Given the description of an element on the screen output the (x, y) to click on. 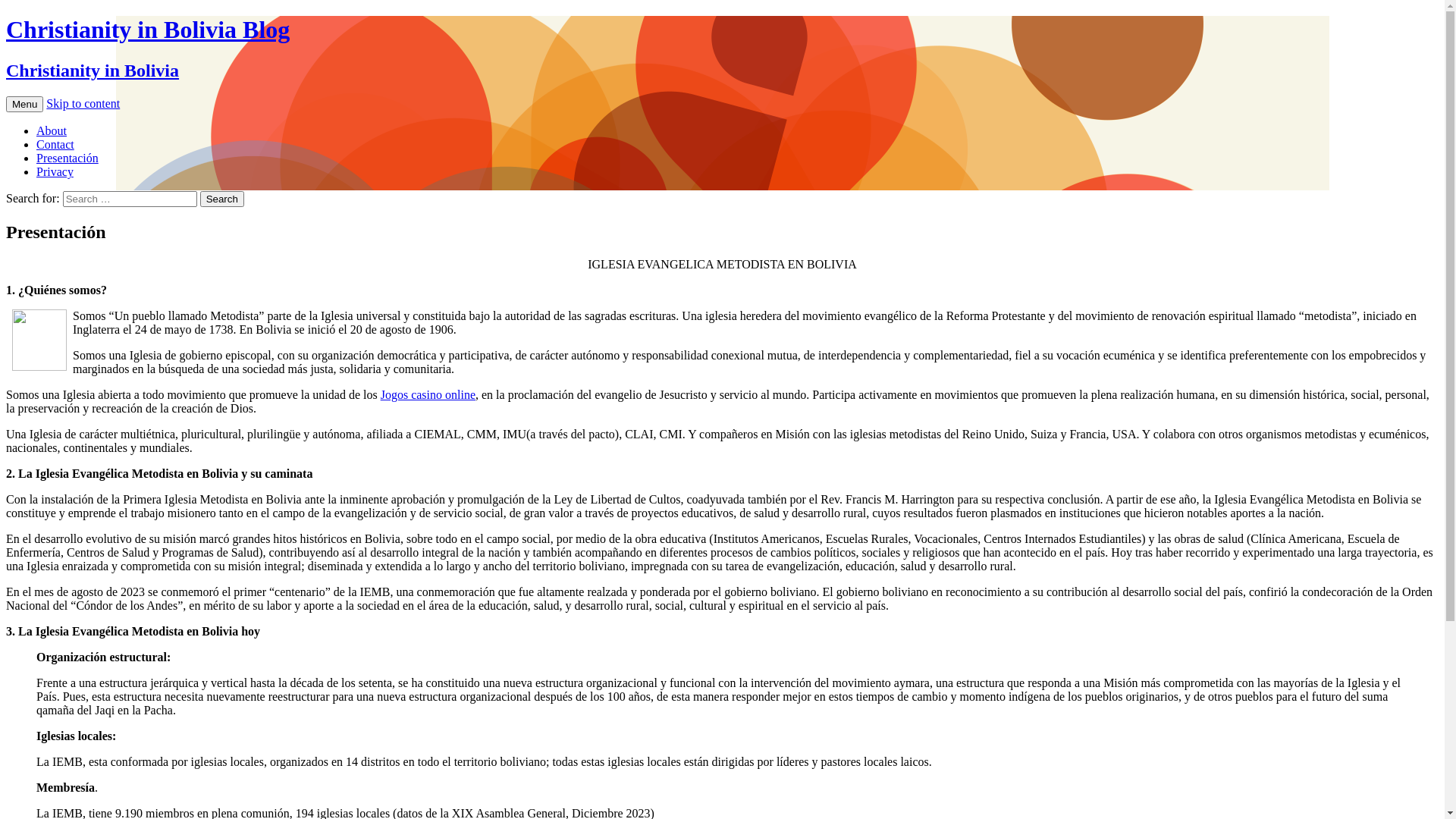
Search Element type: text (222, 199)
Menu Element type: text (24, 104)
Privacy Element type: text (54, 171)
Contact Element type: text (55, 144)
Christianity in Bolivia Blog
Christianity in Bolivia Element type: text (722, 47)
Skip to content Element type: text (82, 103)
Jogos casino online Element type: text (427, 394)
About Element type: text (51, 130)
